Given the description of an element on the screen output the (x, y) to click on. 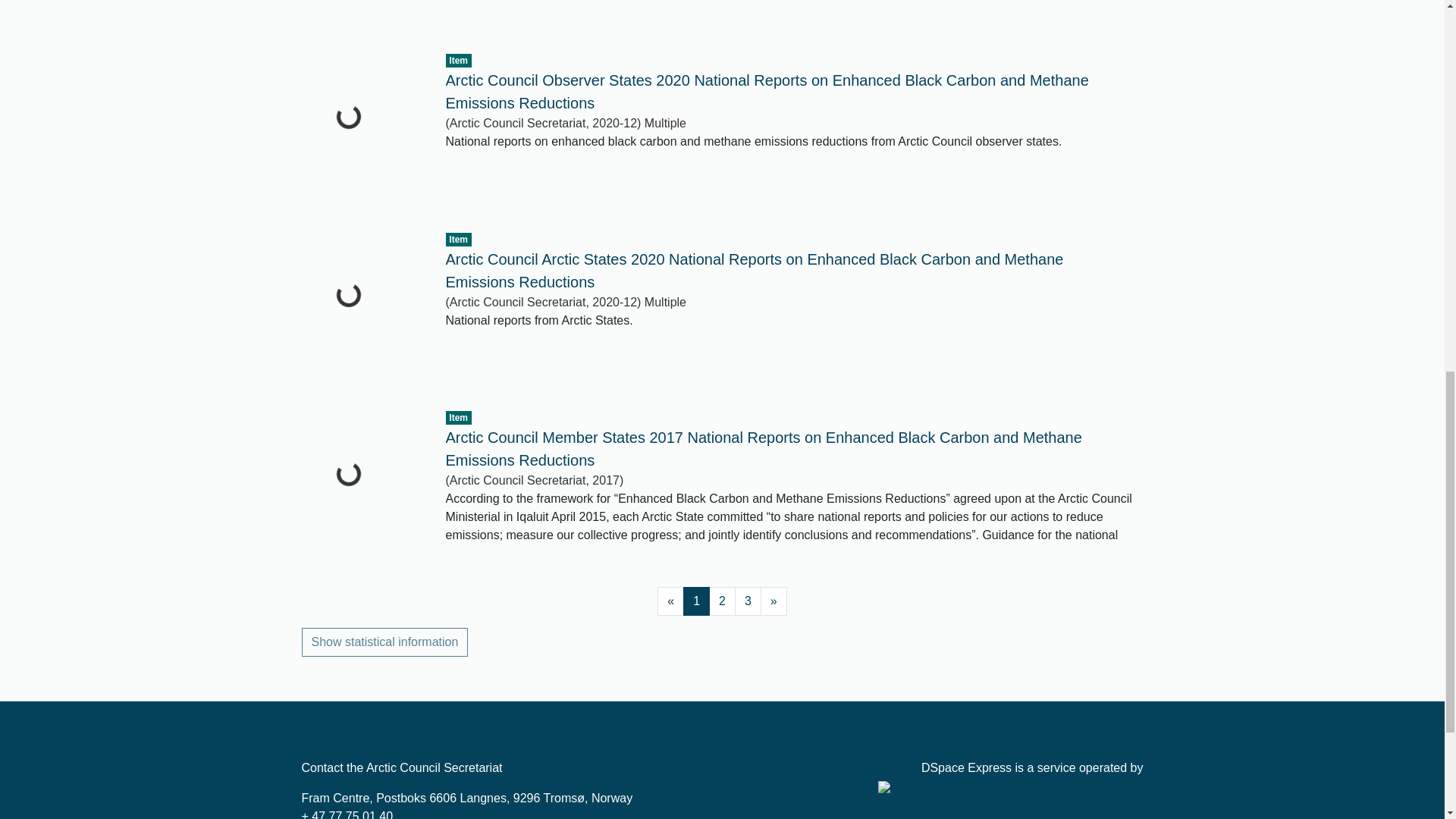
2 (722, 601)
Loading... (362, 484)
Loading... (362, 127)
Loading... (362, 13)
Loading... (362, 307)
